Given the description of an element on the screen output the (x, y) to click on. 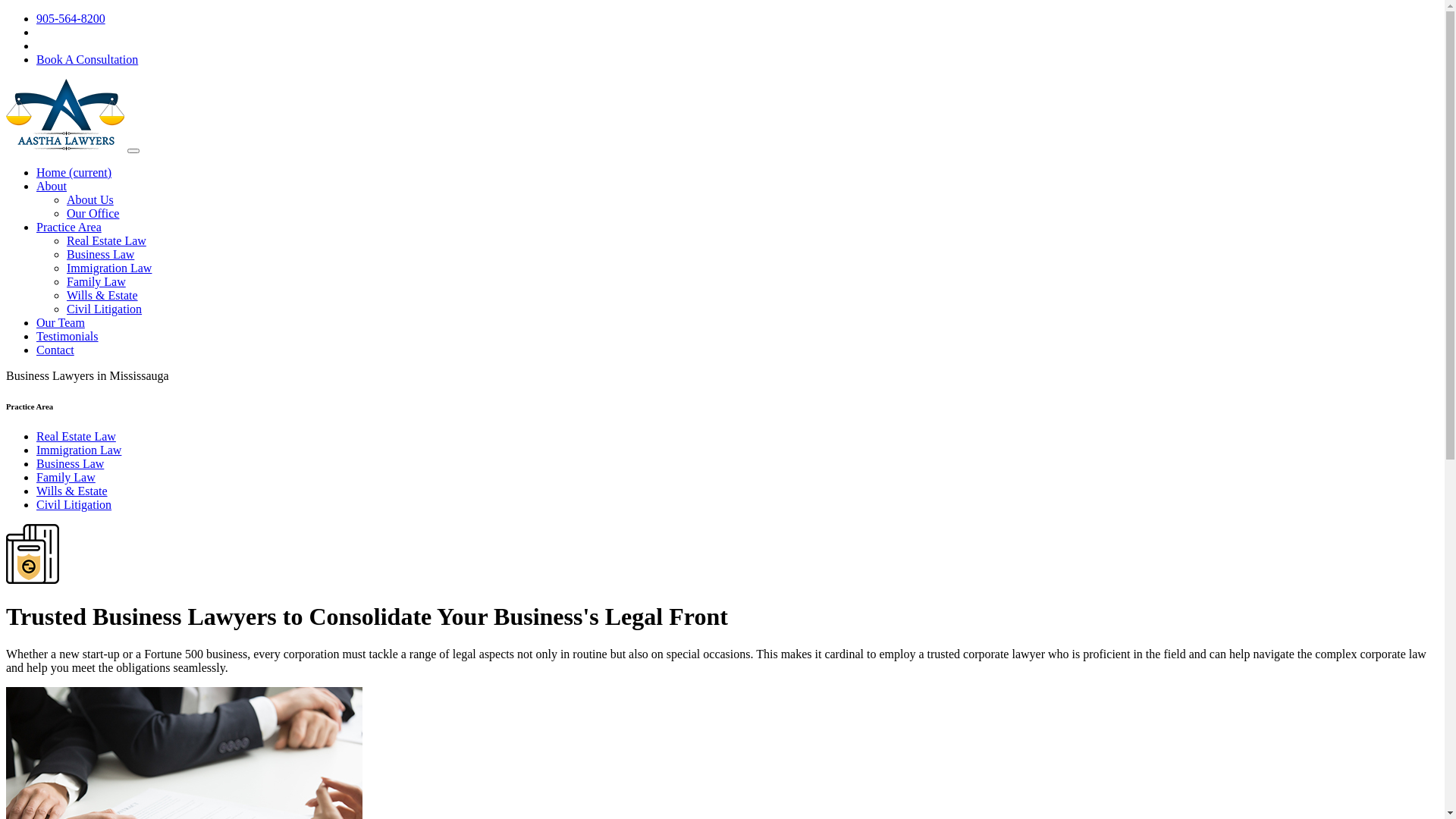
About Element type: text (51, 185)
Aastha Lawyers Element type: hover (65, 114)
Business Law Element type: text (69, 463)
Civil Litigation Element type: text (103, 308)
Contact Element type: text (55, 349)
Our Team Element type: text (60, 322)
Family Law Element type: text (95, 281)
905-564-8200 Element type: text (70, 18)
Family Law Element type: text (65, 476)
Real Estate Law Element type: text (76, 435)
Immigration Law Element type: text (108, 267)
Wills & Estate Element type: text (71, 490)
Immigration Law Element type: text (78, 449)
Business Law Element type: text (100, 253)
Home (current) Element type: text (73, 172)
Practice Area Element type: text (68, 226)
About Us Element type: text (89, 199)
Our Office Element type: text (92, 213)
Testimonials Element type: text (67, 335)
Real Estate Law Element type: text (106, 240)
Book A Consultation Element type: text (87, 59)
Wills & Estate Element type: text (102, 294)
Business Law Element type: hover (32, 553)
Civil Litigation Element type: text (73, 504)
